Given the description of an element on the screen output the (x, y) to click on. 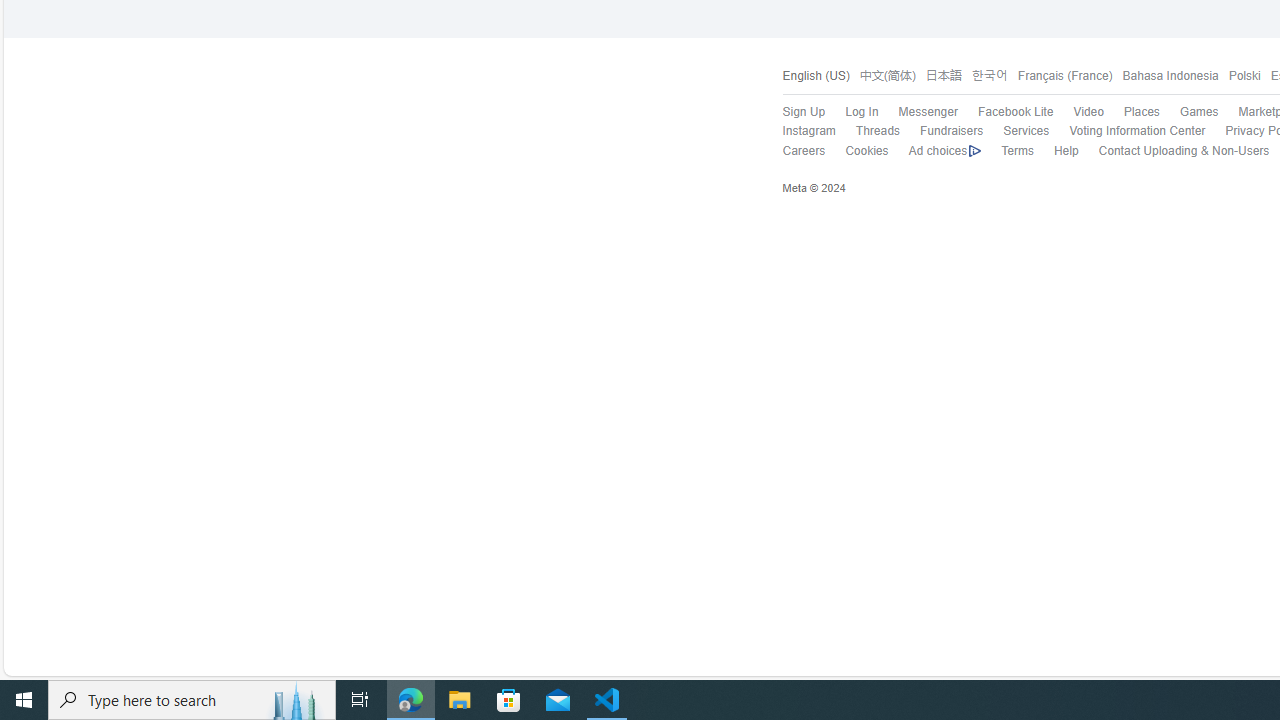
Fundraisers (951, 130)
Threads (877, 130)
Help (1055, 151)
Services (1026, 130)
Help (1066, 150)
Games (1198, 112)
Places (1131, 112)
Places (1140, 112)
Contact Uploading & Non-Users (1173, 151)
English (US) (815, 75)
Messenger (917, 112)
Cookies (866, 150)
Log In (861, 112)
